Given the description of an element on the screen output the (x, y) to click on. 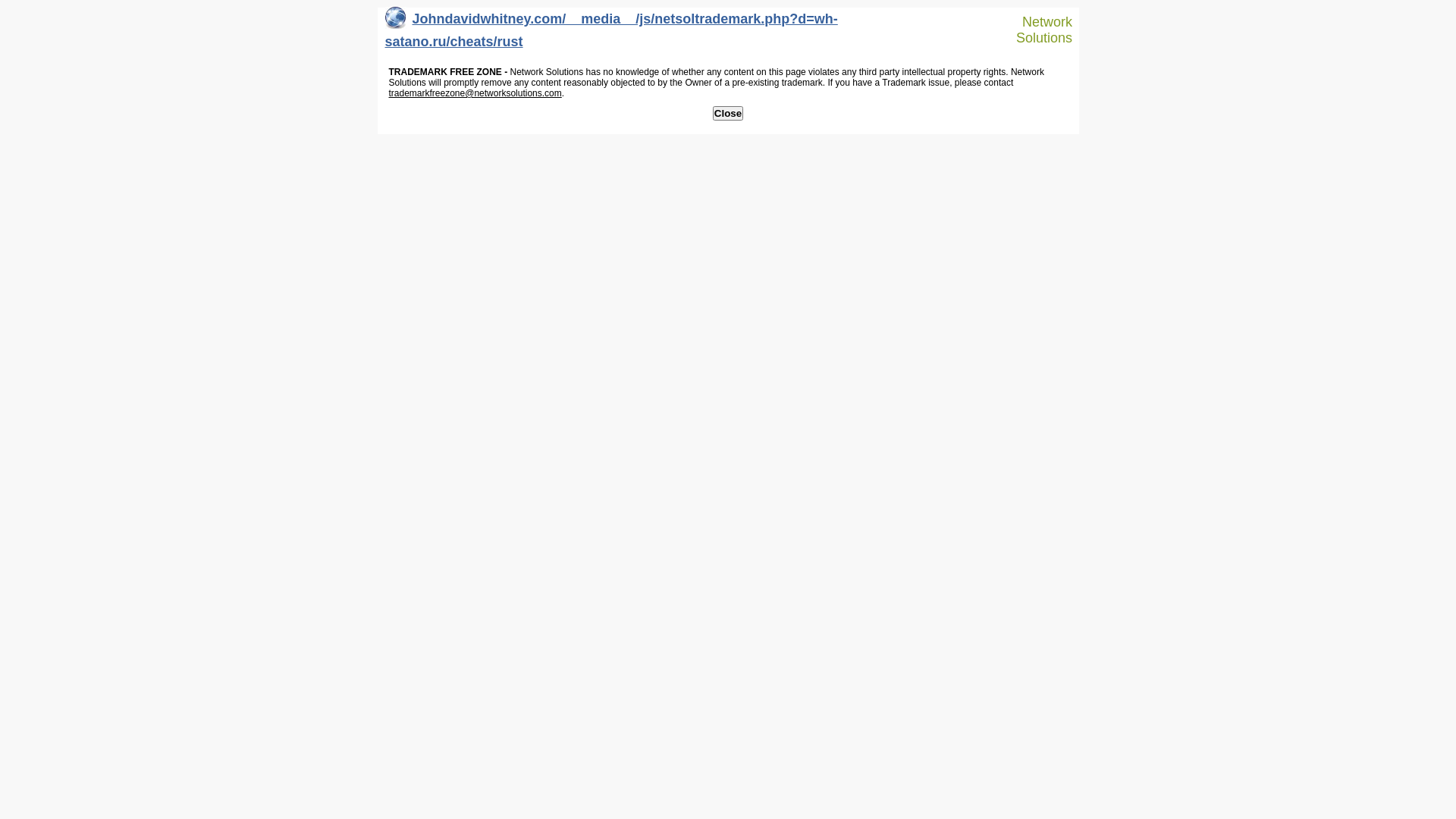
Network Solutions Element type: text (1037, 29)
trademarkfreezone@networksolutions.com Element type: text (474, 92)
Close Element type: text (727, 113)
